Given the description of an element on the screen output the (x, y) to click on. 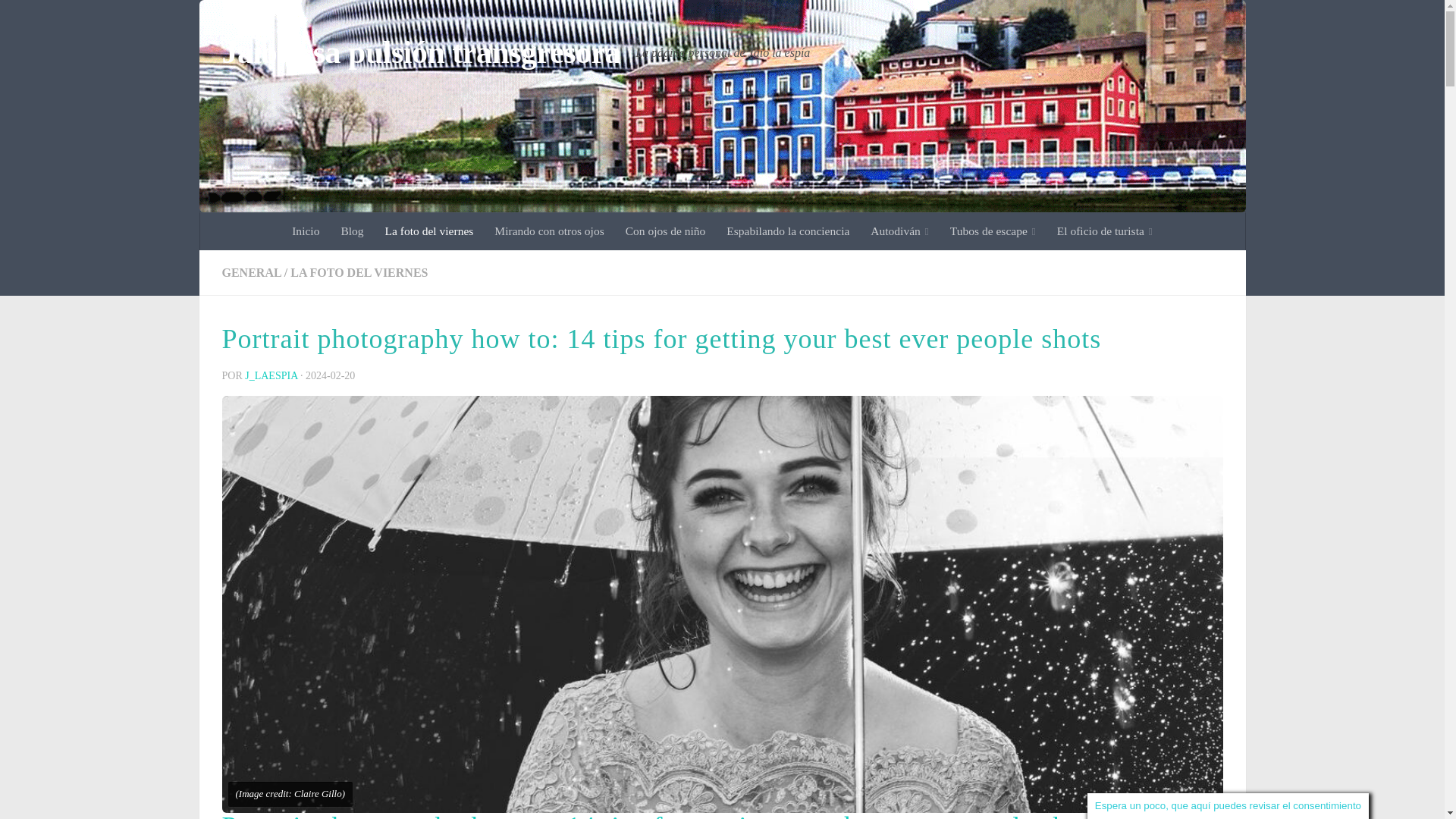
La foto del viernes (429, 231)
Tubos de escape (992, 231)
Debajo del contenido (74, 20)
Espabilando la conciencia (788, 231)
Blog (352, 231)
El oficio de turista (1104, 231)
Mirando con otros ojos (548, 231)
Inicio (305, 231)
